Given the description of an element on the screen output the (x, y) to click on. 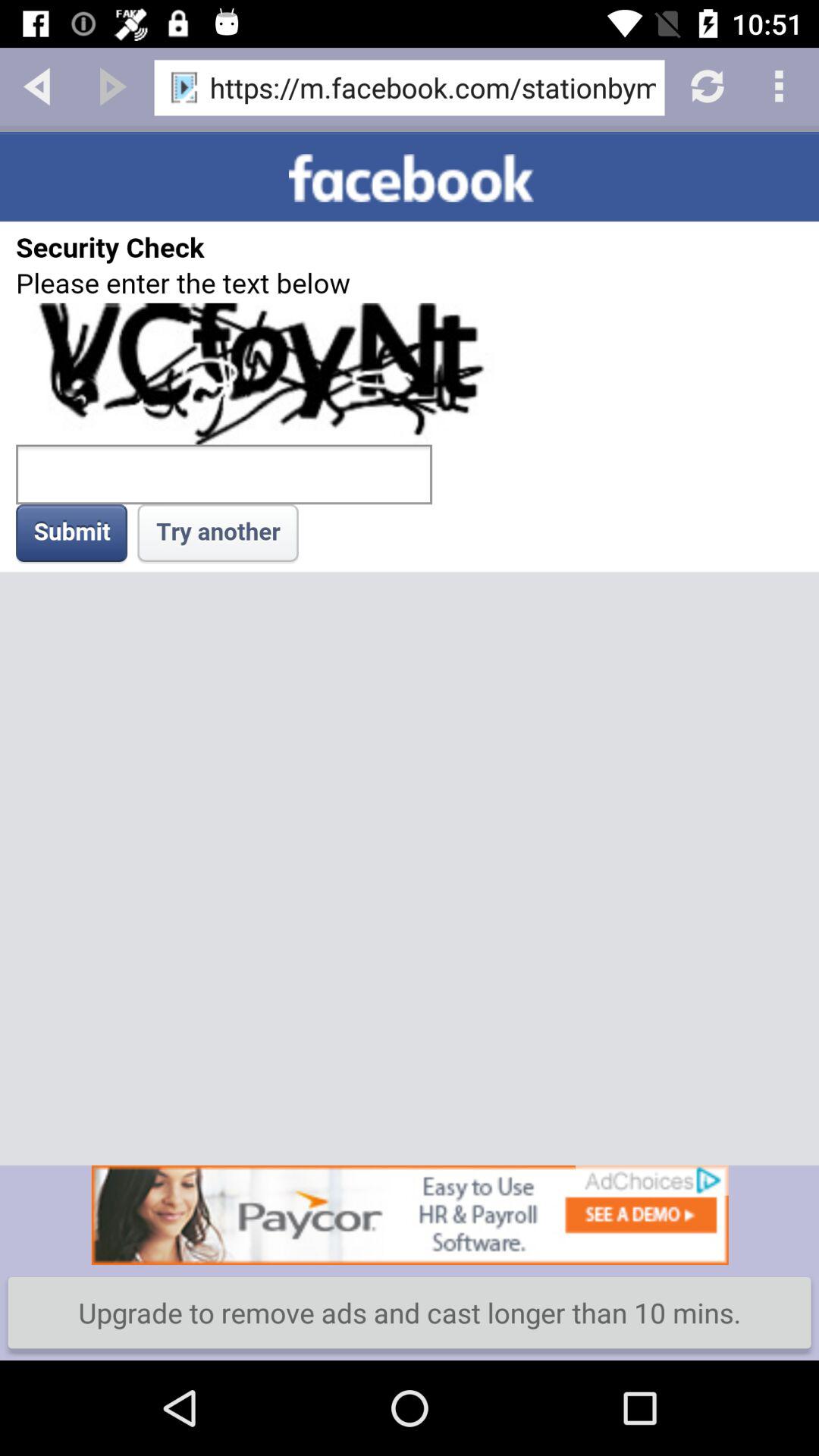
input captcha (409, 648)
